Given the description of an element on the screen output the (x, y) to click on. 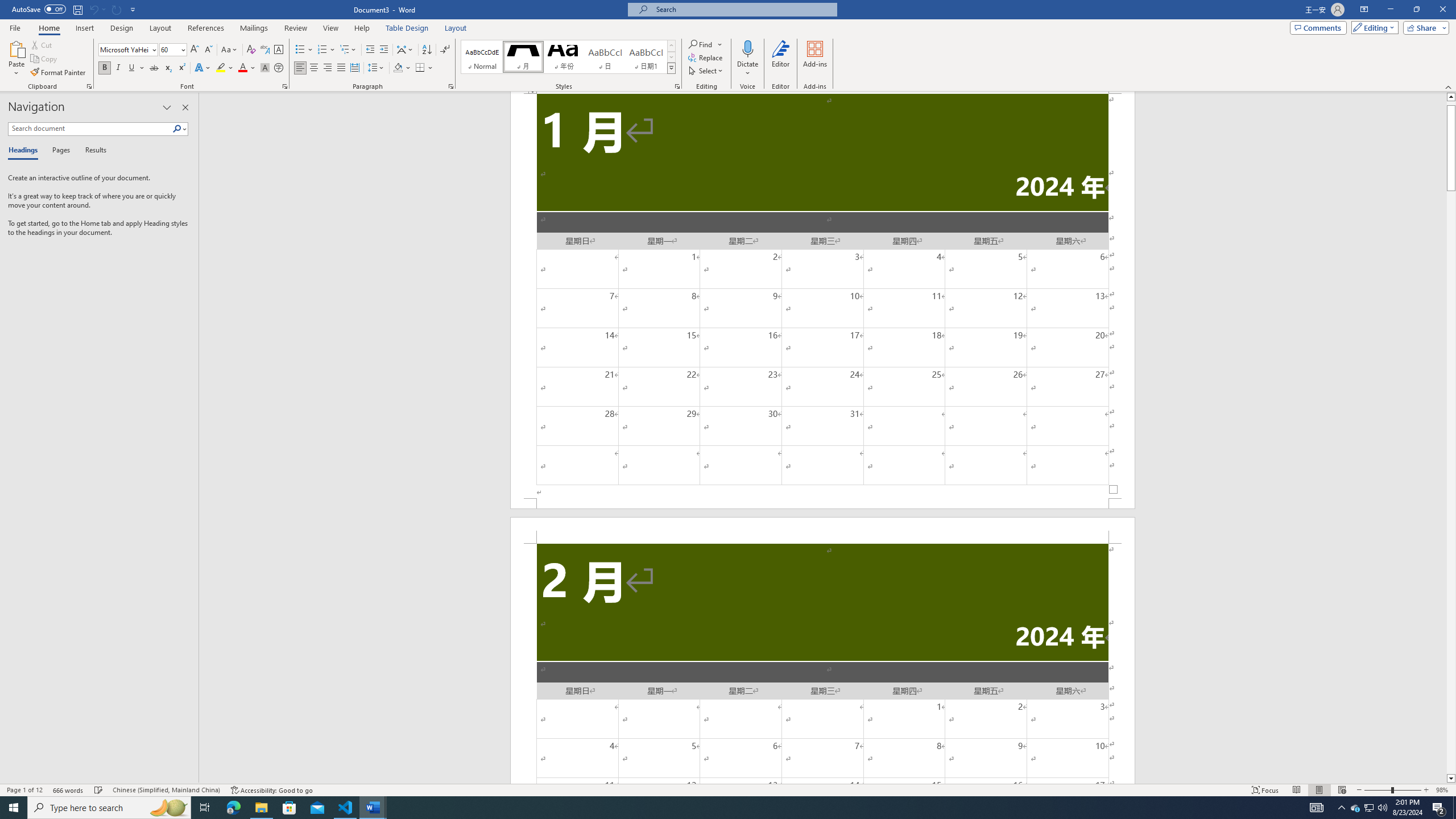
Can't Undo (92, 9)
